Given the description of an element on the screen output the (x, y) to click on. 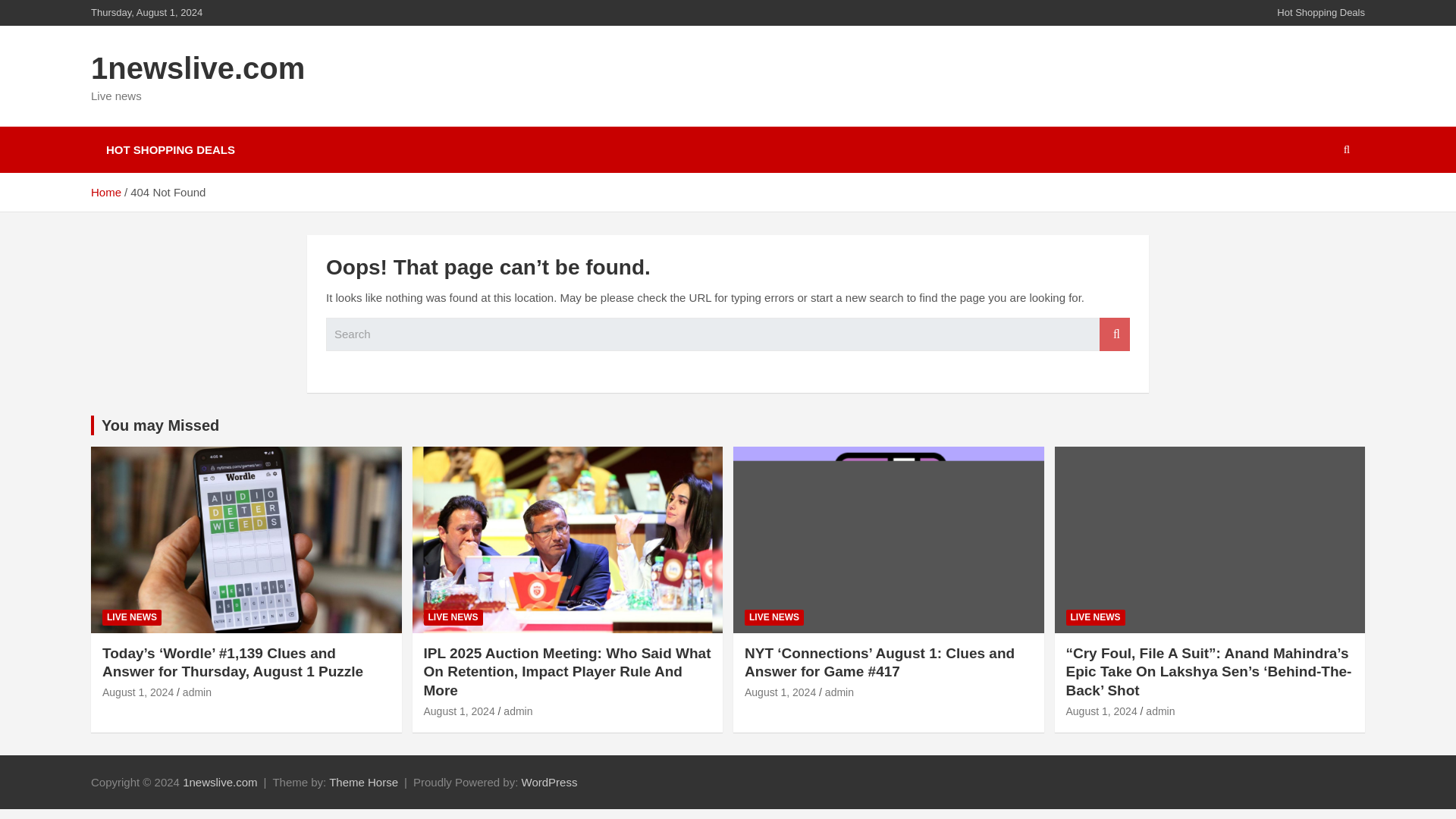
1newslive.com (220, 781)
LIVE NEWS (452, 617)
Theme Horse (363, 781)
LIVE NEWS (773, 617)
admin (1159, 711)
Theme Horse (363, 781)
Hot Shopping Deals (1320, 12)
1newslive.com (197, 68)
admin (839, 692)
August 1, 2024 (779, 692)
admin (517, 711)
1newslive.com (220, 781)
WordPress (549, 781)
LIVE NEWS (1095, 617)
